Given the description of an element on the screen output the (x, y) to click on. 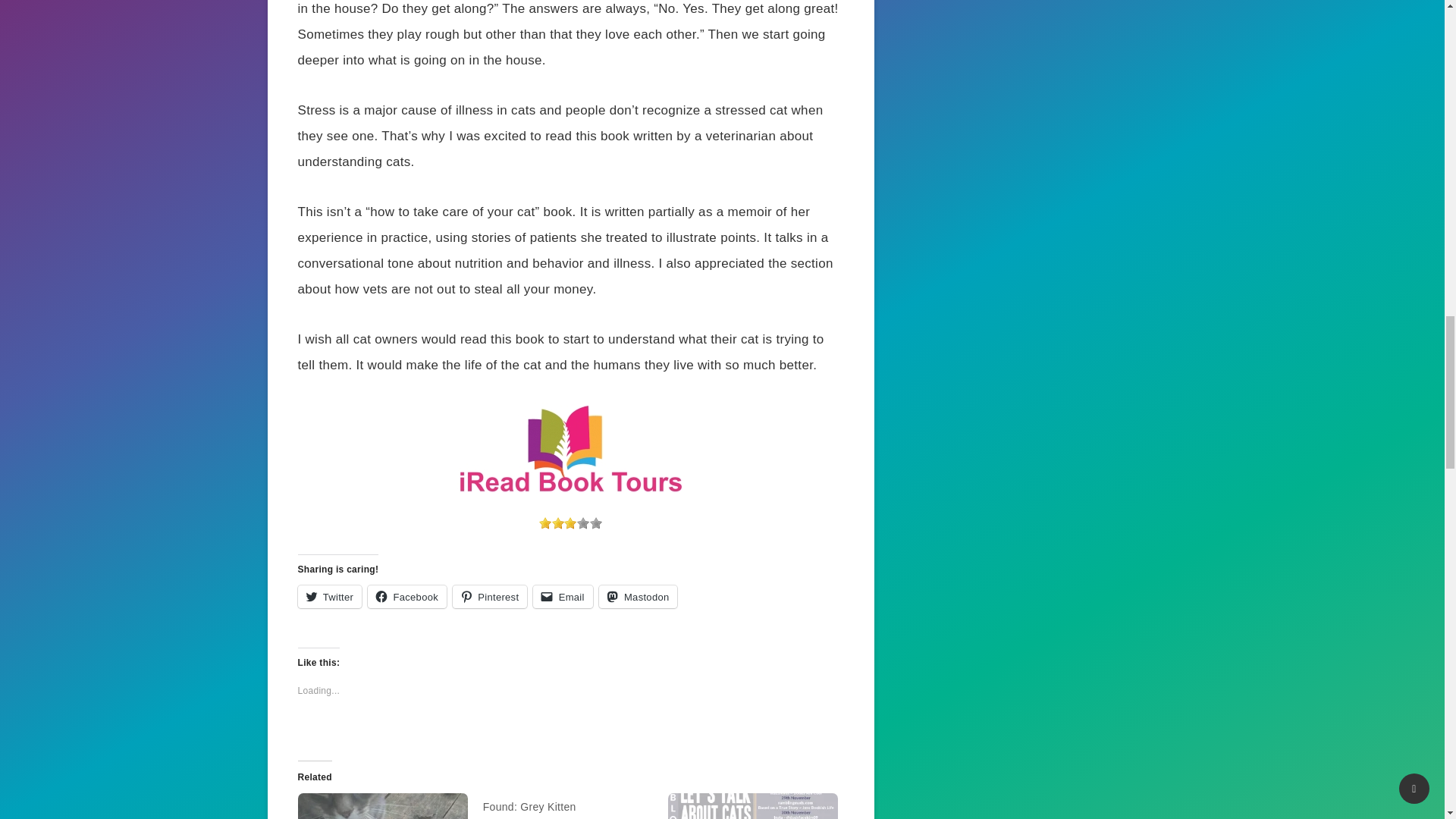
Mastodon (638, 596)
Facebook (407, 596)
What should cats eat? (382, 806)
Twitter (329, 596)
Found:  Grey Kitten (529, 806)
Click to email a link to a friend (562, 596)
Email (562, 596)
Found: Grey Kitten (529, 806)
Click to share on Twitter (329, 596)
Found:  Grey Kitten (575, 806)
Click to share on Mastodon (638, 596)
Click to share on Facebook (407, 596)
Click to share on Pinterest (489, 596)
Pinterest (489, 596)
